Given the description of an element on the screen output the (x, y) to click on. 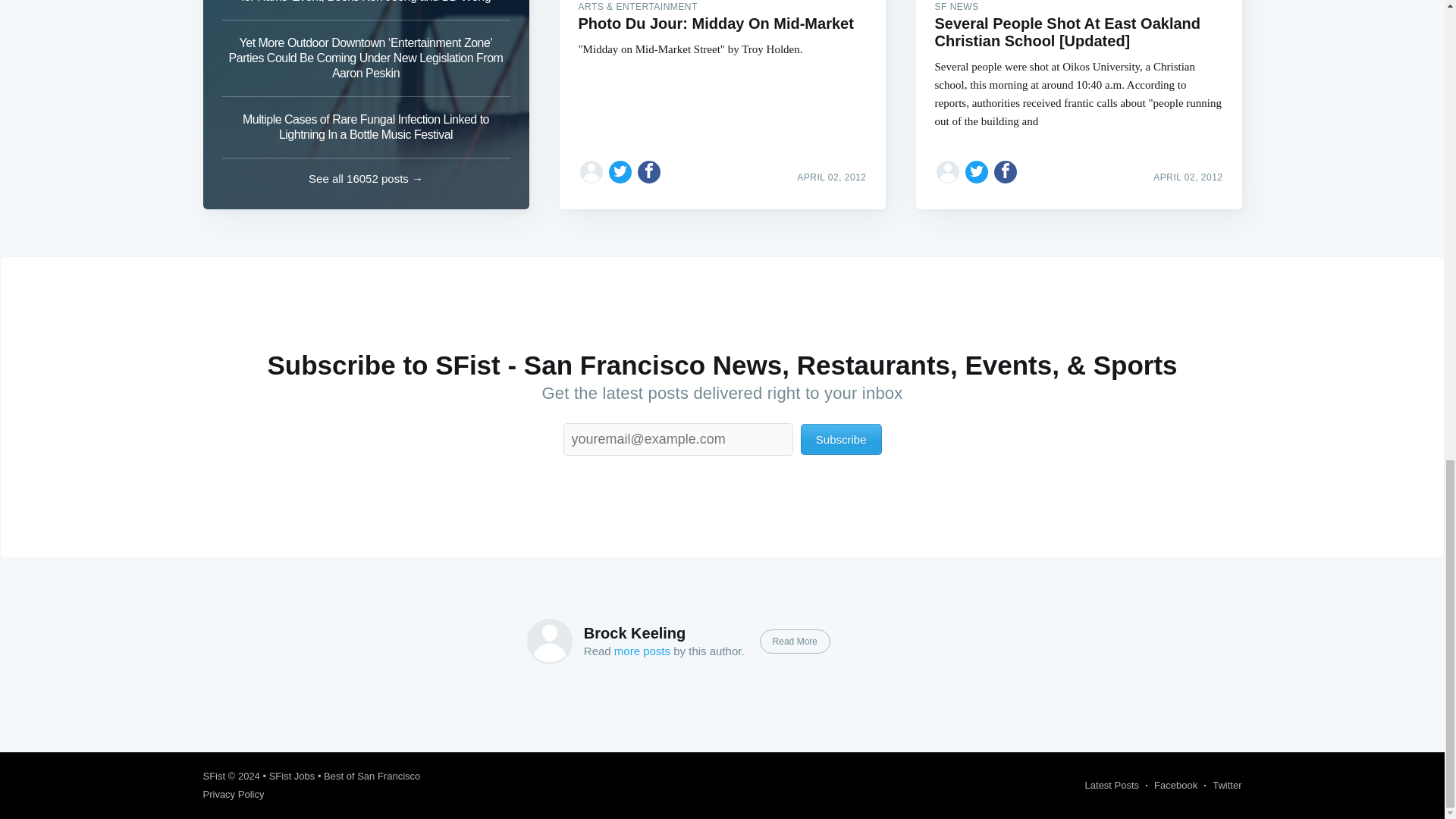
more posts (641, 650)
Share on Twitter (620, 171)
Brock Keeling (634, 632)
Subscribe (841, 439)
Share on Twitter (976, 171)
Share on Facebook (649, 171)
Share on Facebook (1004, 171)
